Given the description of an element on the screen output the (x, y) to click on. 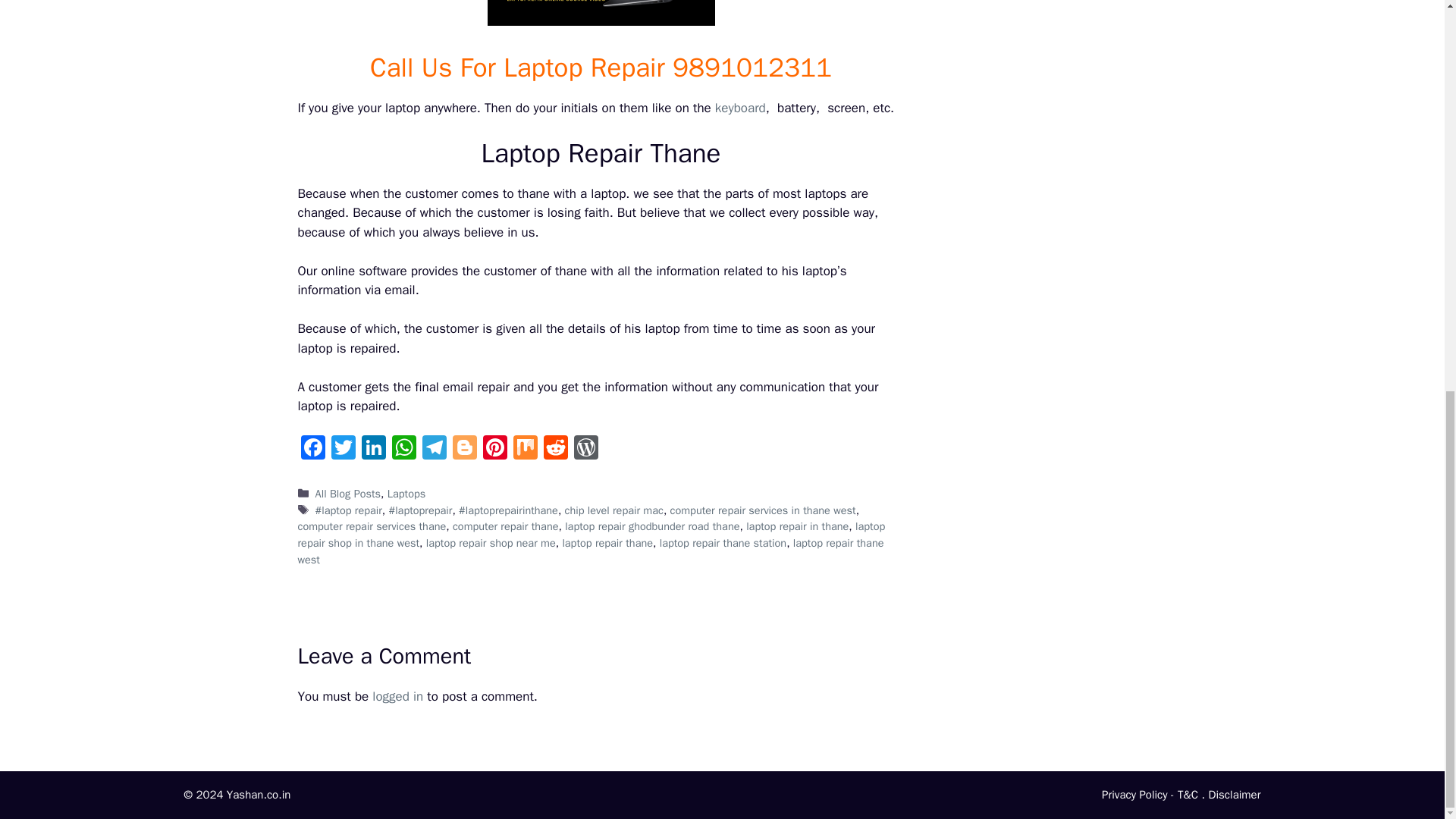
Facebook (312, 449)
WordPress (584, 449)
computer repair services in thane west (762, 509)
LinkedIn (373, 449)
Twitter (342, 449)
Mix (524, 449)
chip level repair mac (613, 509)
Facebook (312, 449)
All Blog Posts (348, 493)
keyboard (739, 107)
Pinterest (494, 449)
WhatsApp (403, 449)
Pinterest (494, 449)
Telegram (433, 449)
Telegram (433, 449)
